Given the description of an element on the screen output the (x, y) to click on. 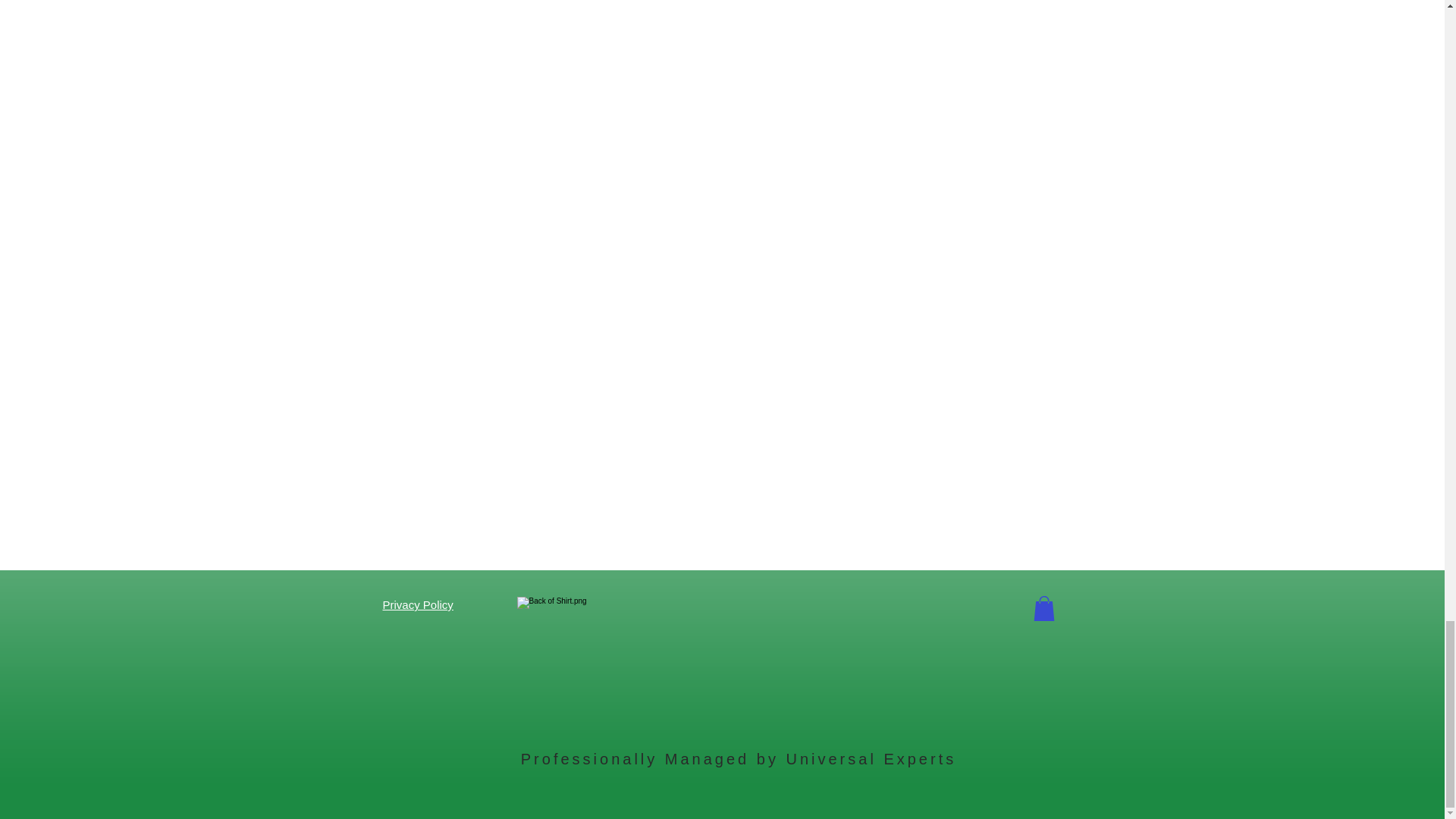
Privacy Policy (416, 604)
